Given the description of an element on the screen output the (x, y) to click on. 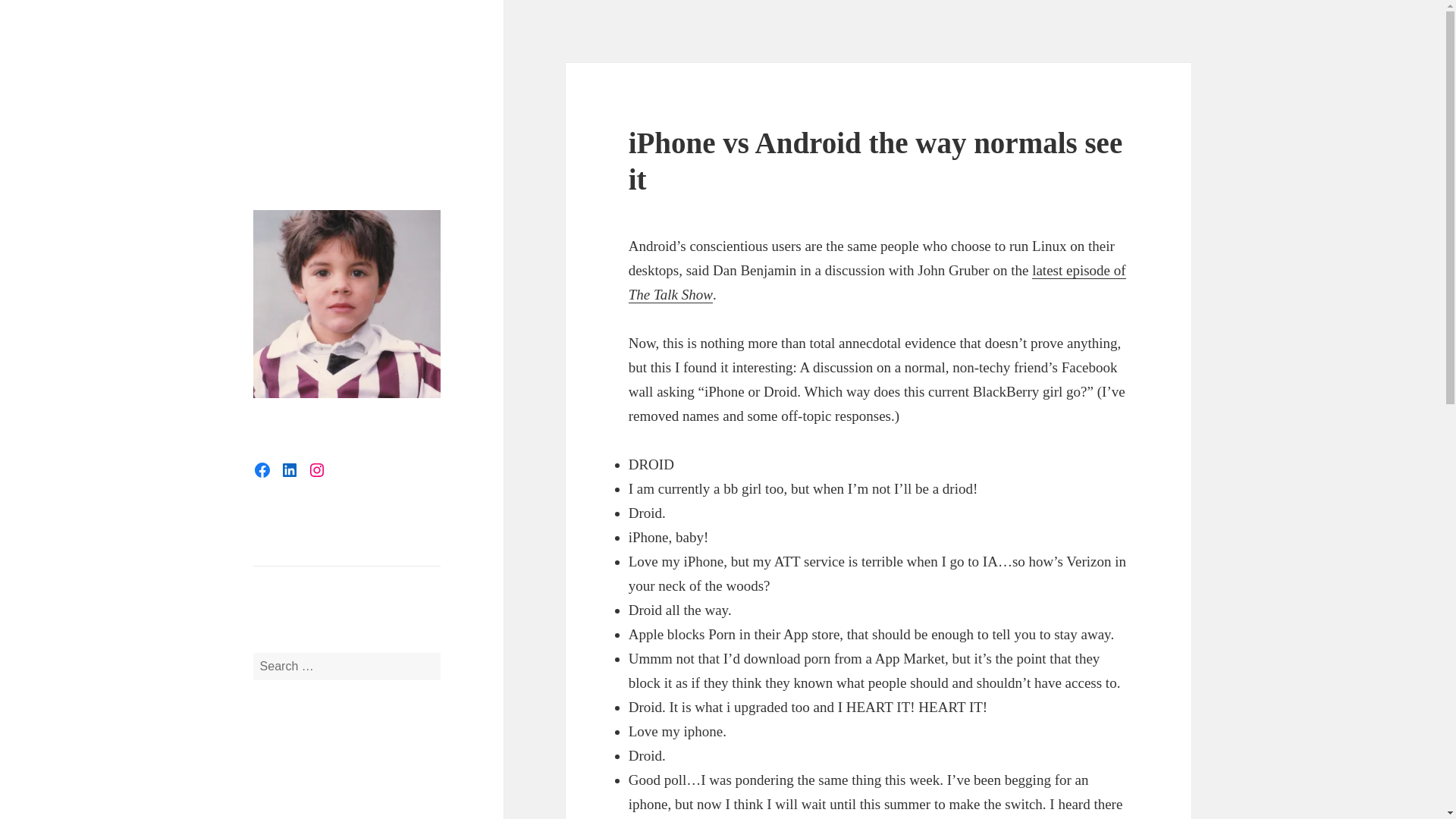
Read Posts (280, 549)
Facebook (261, 470)
LinkedIn (289, 470)
latest episode of The Talk Show (876, 282)
About Nick (281, 580)
Nick Bergus (312, 74)
Instagram (316, 470)
